Given the description of an element on the screen output the (x, y) to click on. 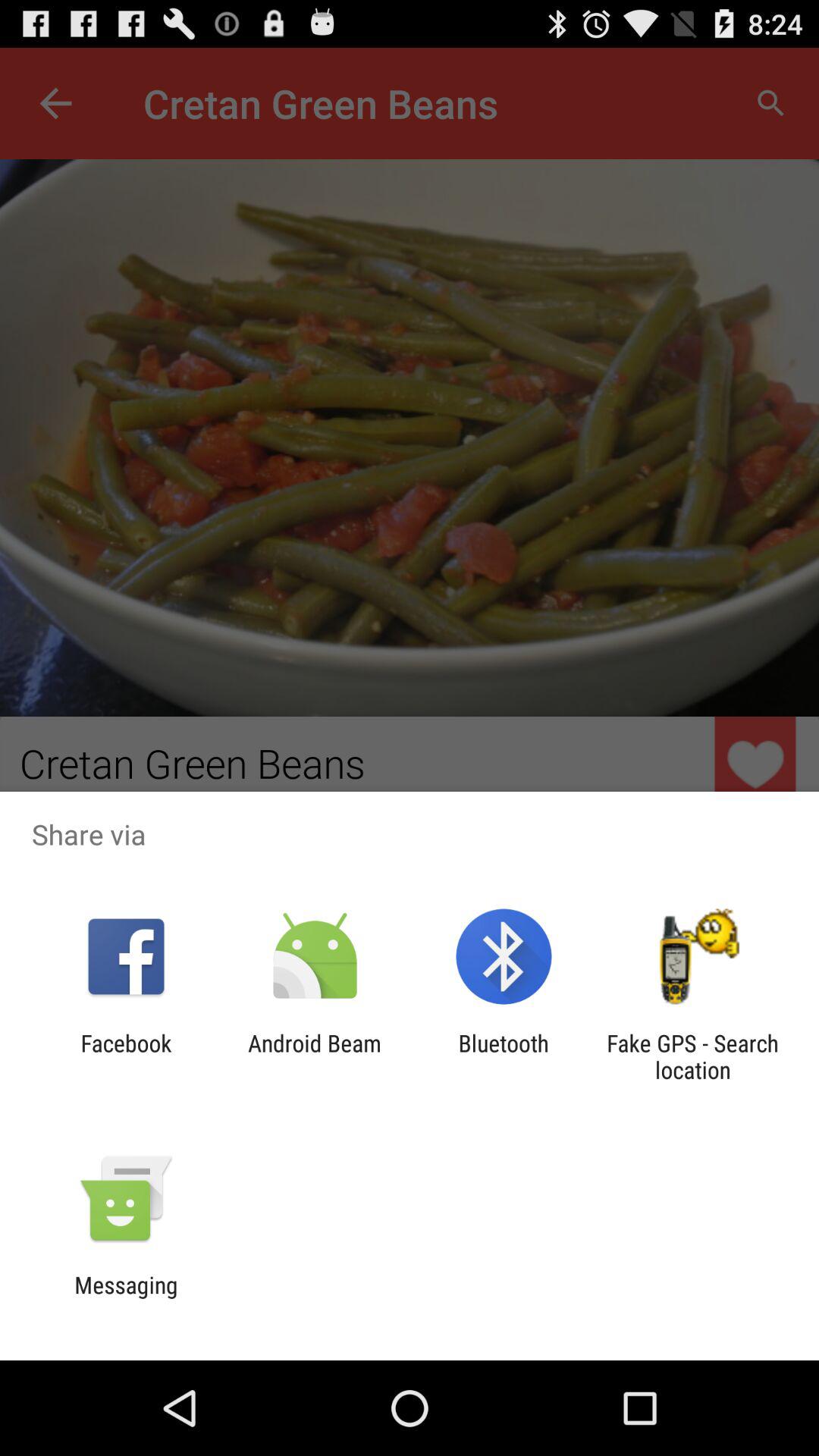
select the facebook app (125, 1056)
